Given the description of an element on the screen output the (x, y) to click on. 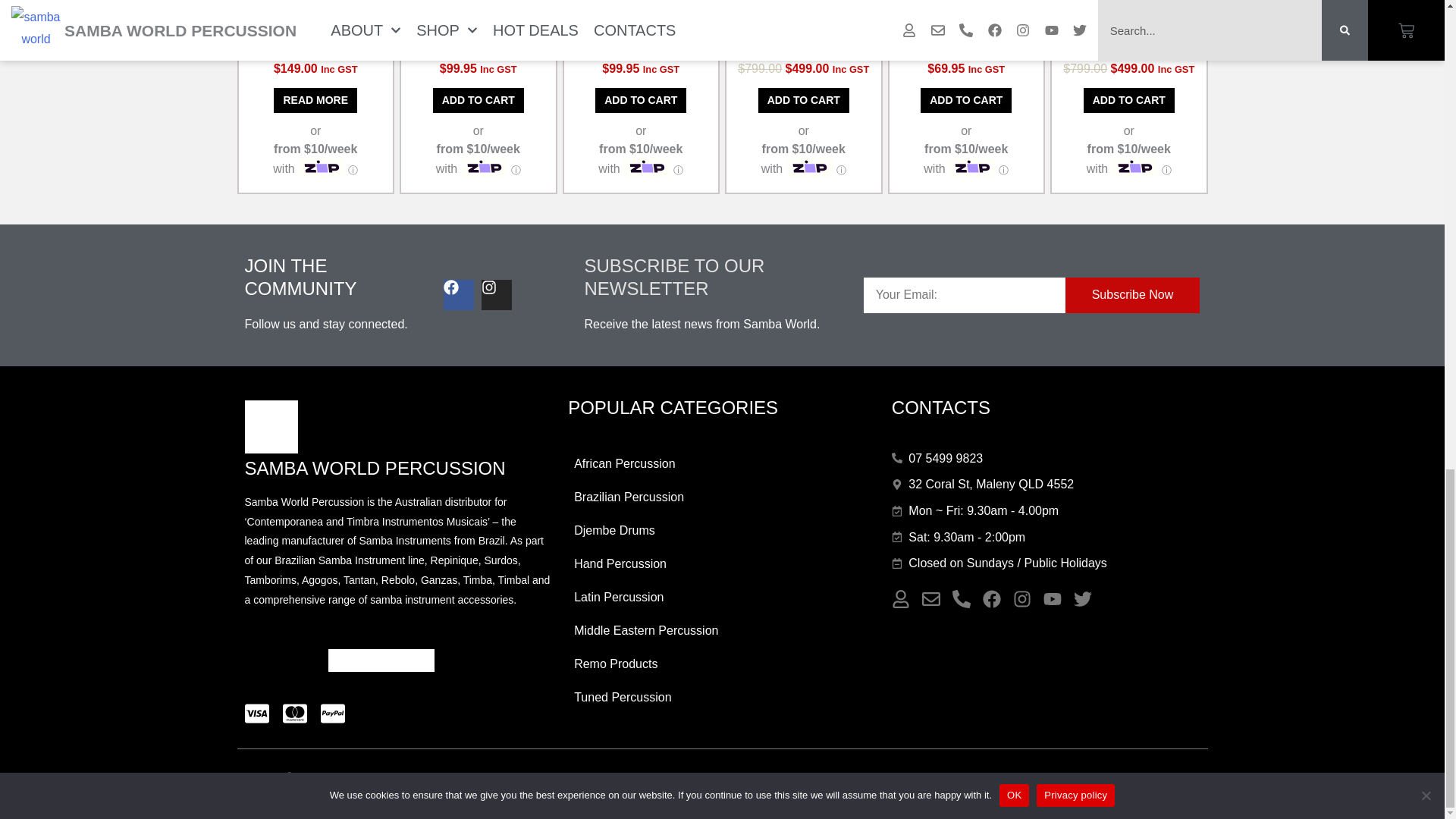
samba world percussion australia (270, 426)
